Given the description of an element on the screen output the (x, y) to click on. 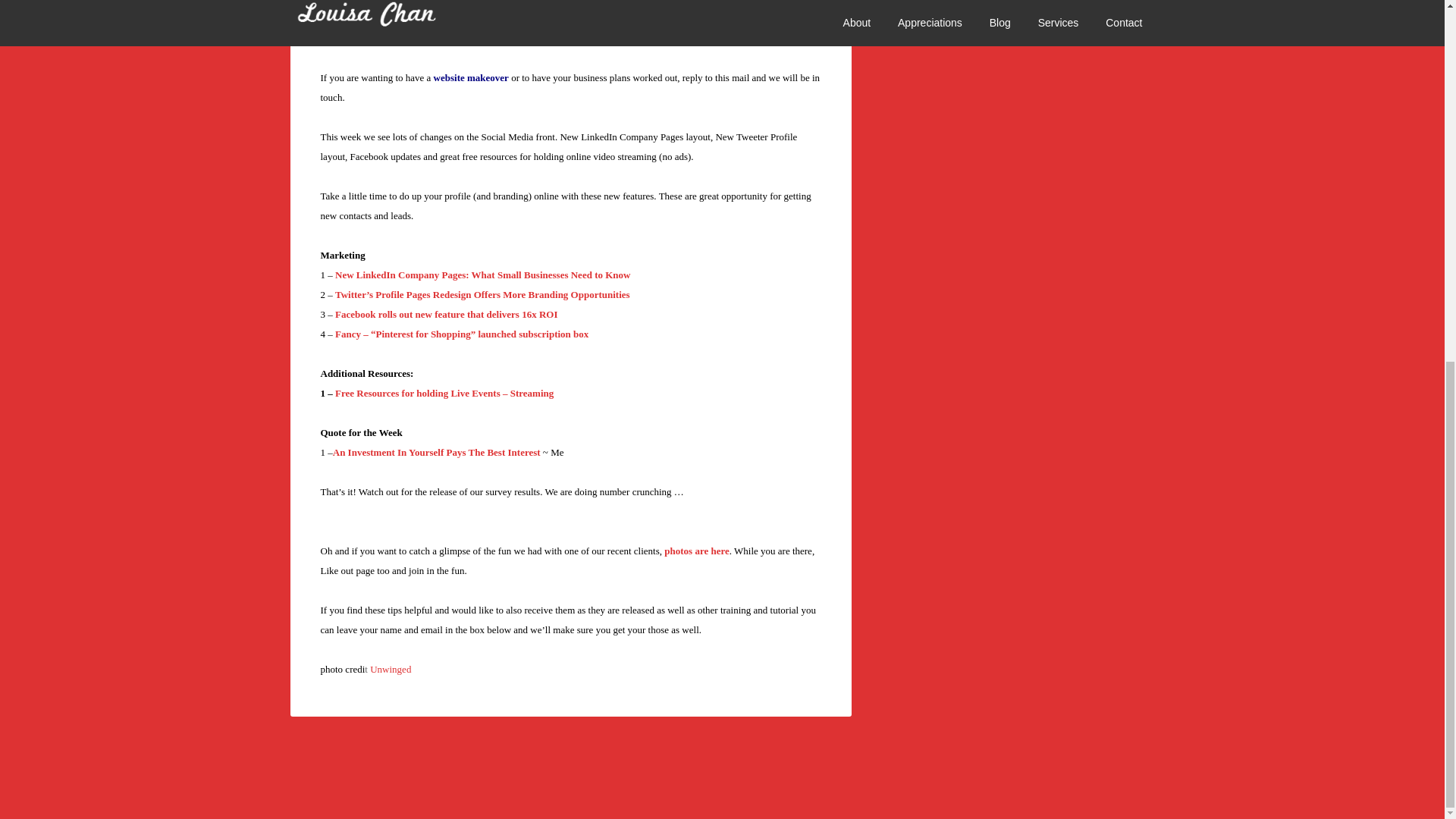
Fancy Pinterest's Competitor Launches Subcsription (461, 333)
An Investment In Yourself Yields The Best Interest (436, 451)
An Investment In Yourself Pays The Best Interest (436, 451)
New Livestream (443, 392)
Facebook rolls out new feature that delivers 16x ROI (445, 314)
investment in websites (512, 18)
Unwinged (389, 668)
Facebook Exchange Deals (445, 314)
New LinkedIn Company Pages (482, 274)
Twitter's Profile Page Redesign (482, 294)
Investments In Websites is still key (512, 18)
Celebrating Raya or Eid With UPNM Officers (696, 550)
photos are here (696, 550)
